Given the description of an element on the screen output the (x, y) to click on. 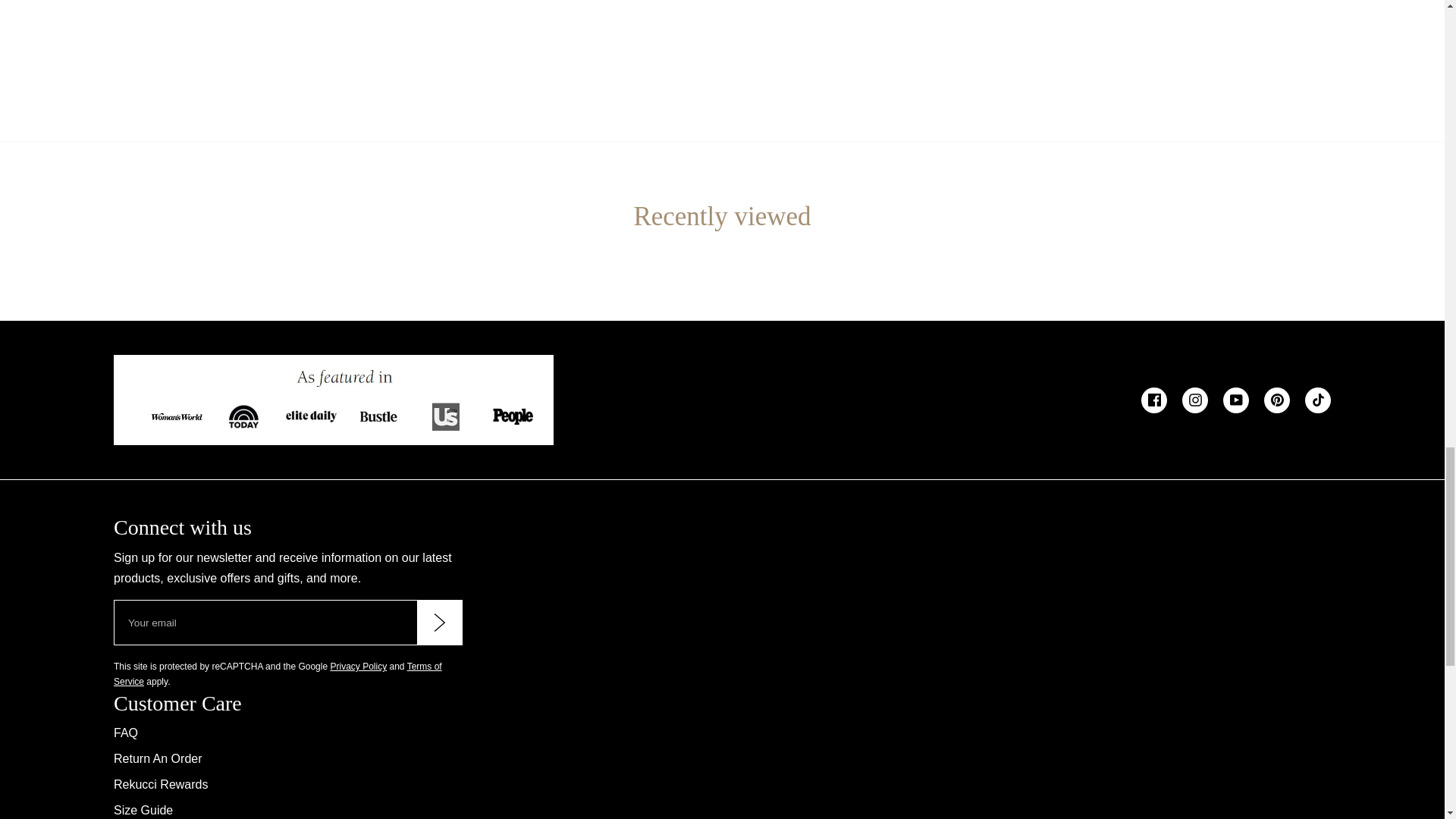
Rekucci on Facebook (1154, 400)
Rekucci on YouTube (1236, 400)
Privacy Policy (358, 665)
Terms and Conditions (277, 673)
Rekucci on Pinterest (1276, 400)
Rekucci on TikTok (1317, 400)
Rekucci on Instagram (1195, 400)
